Given the description of an element on the screen output the (x, y) to click on. 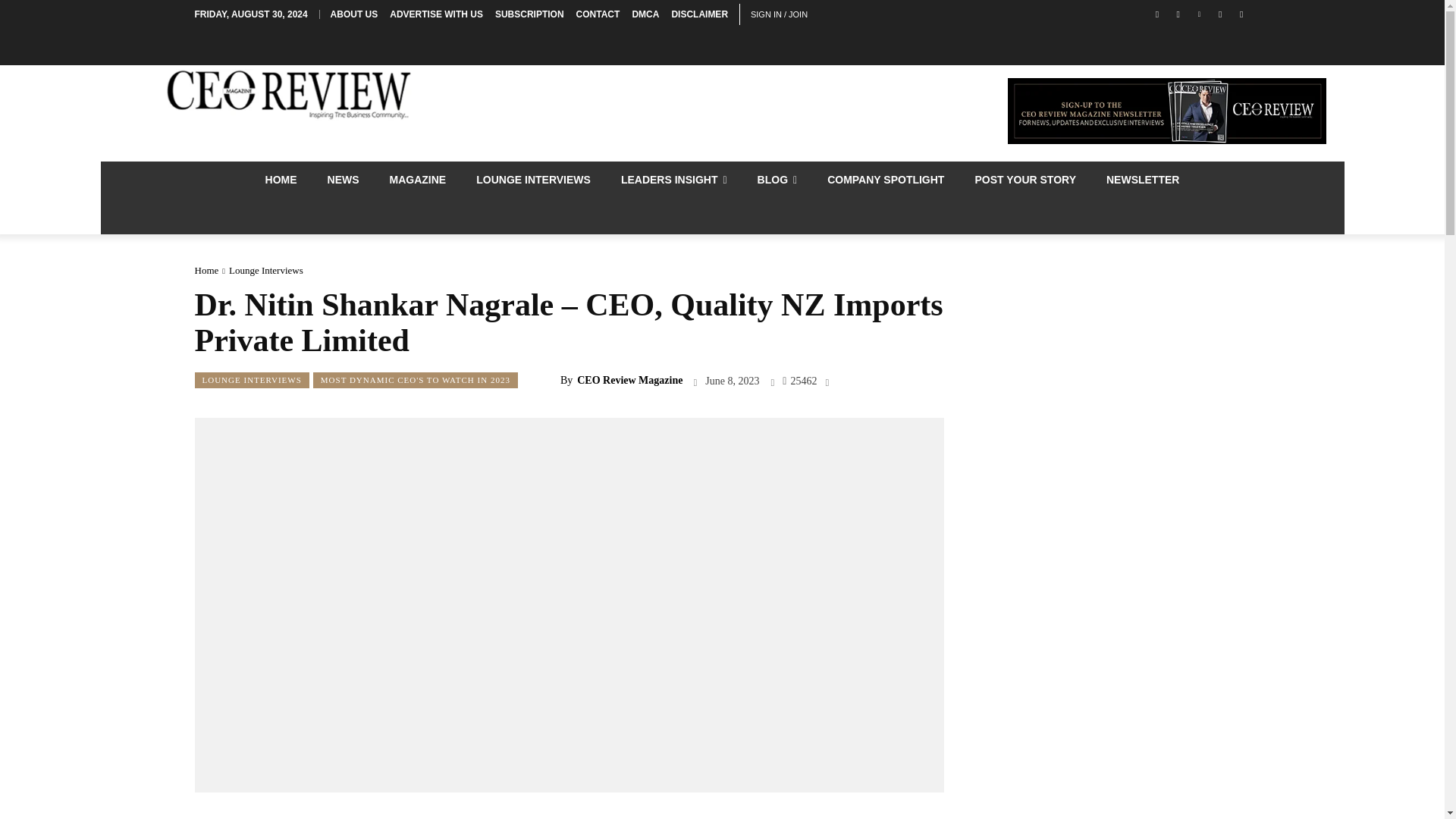
DISCLAIMER (699, 14)
Twitter (1219, 14)
SUBSCRIPTION (529, 14)
View all posts in Lounge Interviews (265, 270)
Youtube (1241, 14)
CONTACT (598, 14)
Instagram (1177, 14)
HOME (281, 179)
Linkedin (1199, 14)
Facebook (1157, 14)
